Given the description of an element on the screen output the (x, y) to click on. 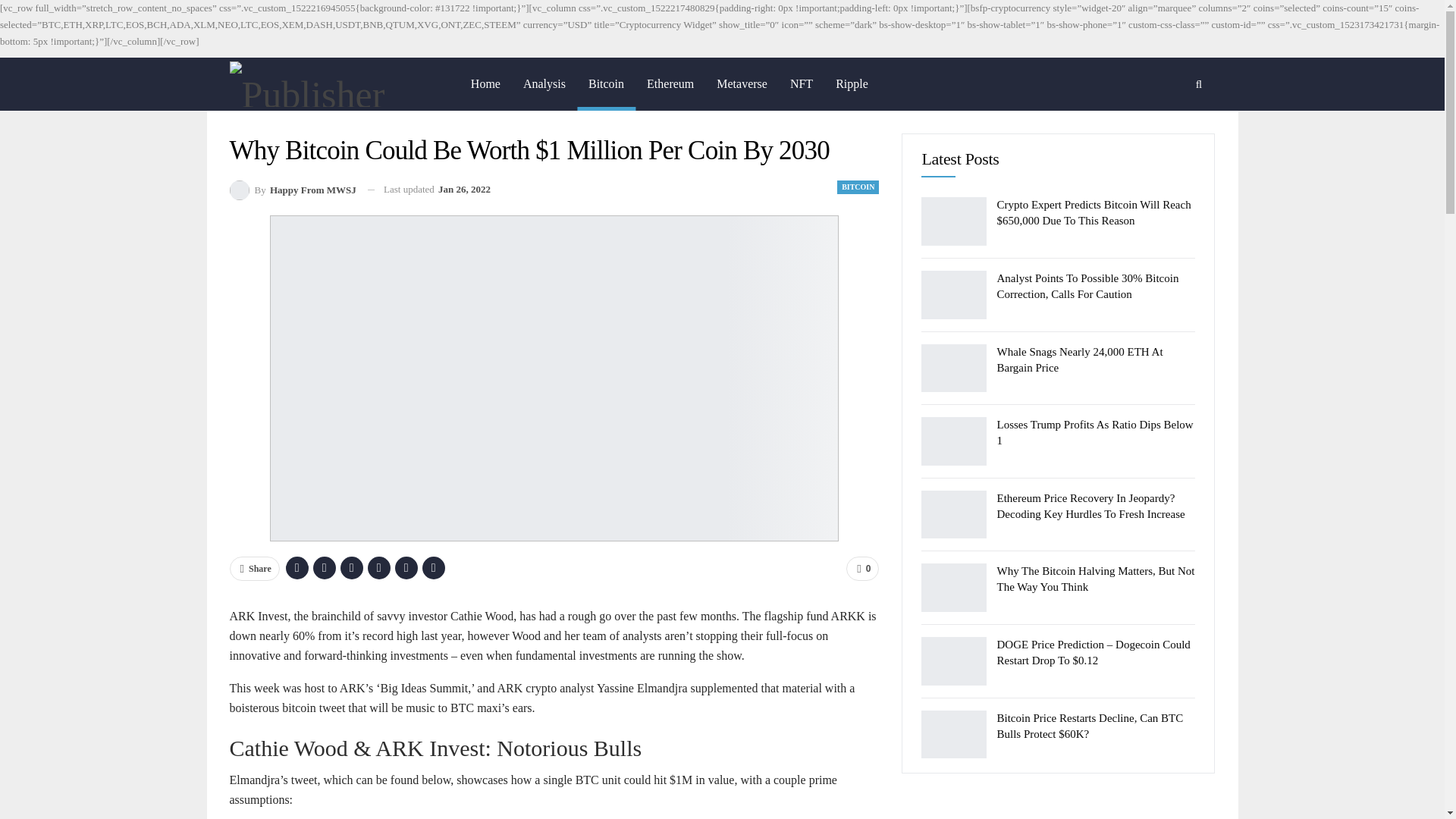
Home (486, 83)
BITCOIN (858, 187)
Browse Author Articles (291, 189)
Analysis (544, 83)
By Happy From MWSJ (291, 189)
Metaverse (741, 83)
Ethereum (669, 83)
Ripple (851, 83)
0 (862, 568)
Bitcoin (605, 83)
